Given the description of an element on the screen output the (x, y) to click on. 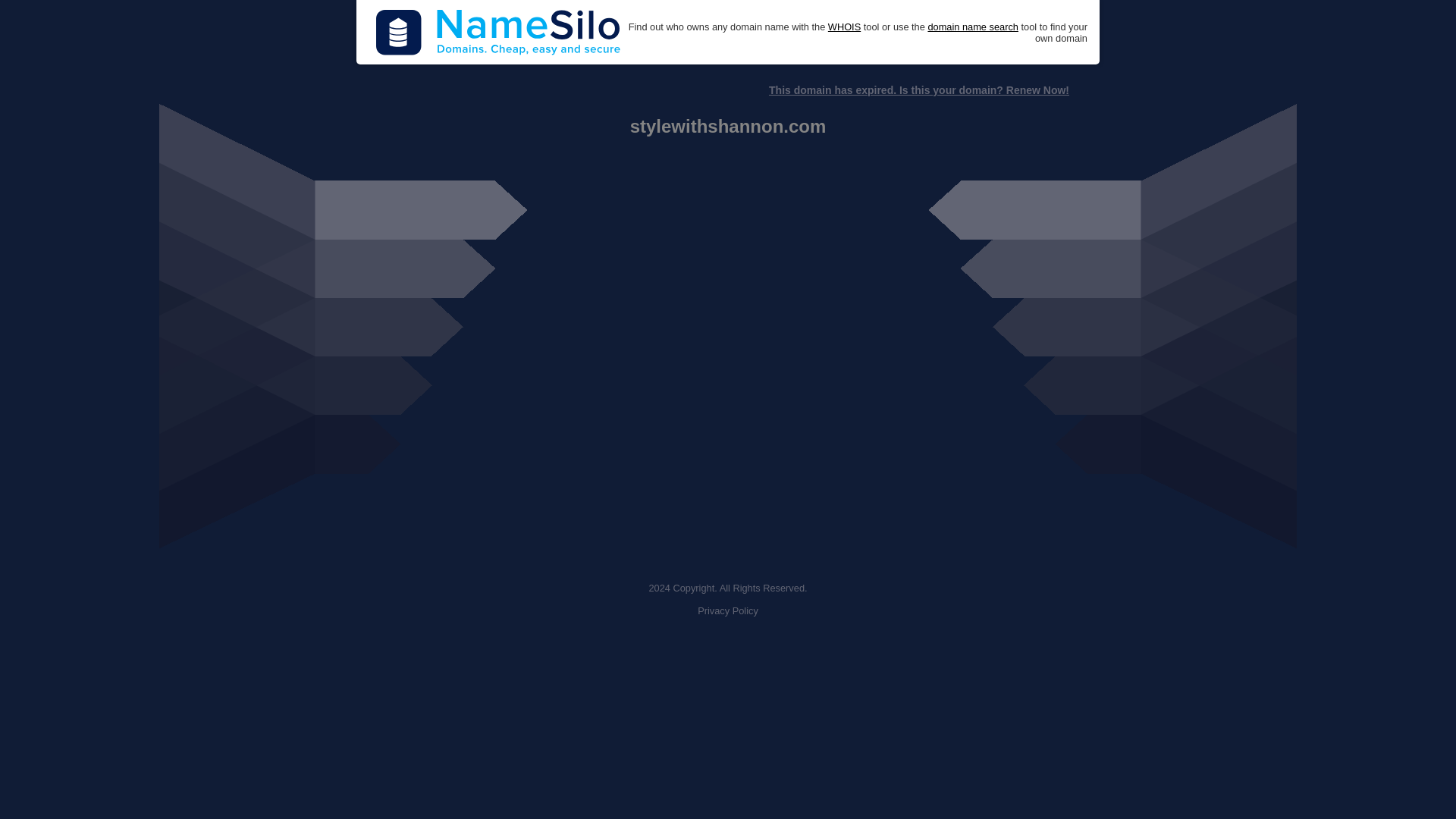
Privacy Policy (727, 610)
This domain has expired. Is this your domain? Renew Now! (918, 90)
domain name search (972, 26)
WHOIS (844, 26)
